Given the description of an element on the screen output the (x, y) to click on. 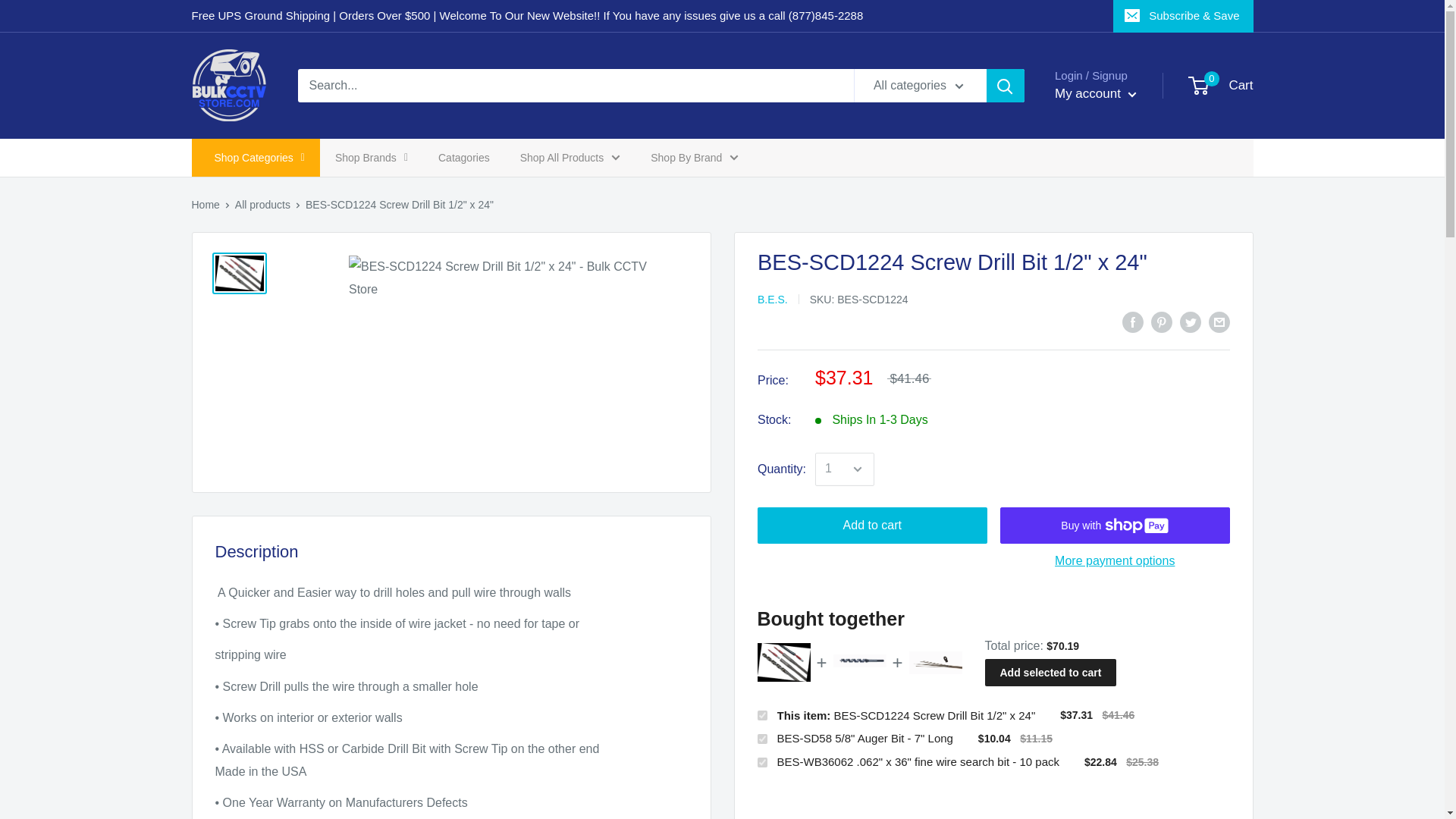
4512210812989 (762, 715)
My account (1095, 93)
4514007351357 (762, 738)
4514006532157 (1221, 85)
